Given the description of an element on the screen output the (x, y) to click on. 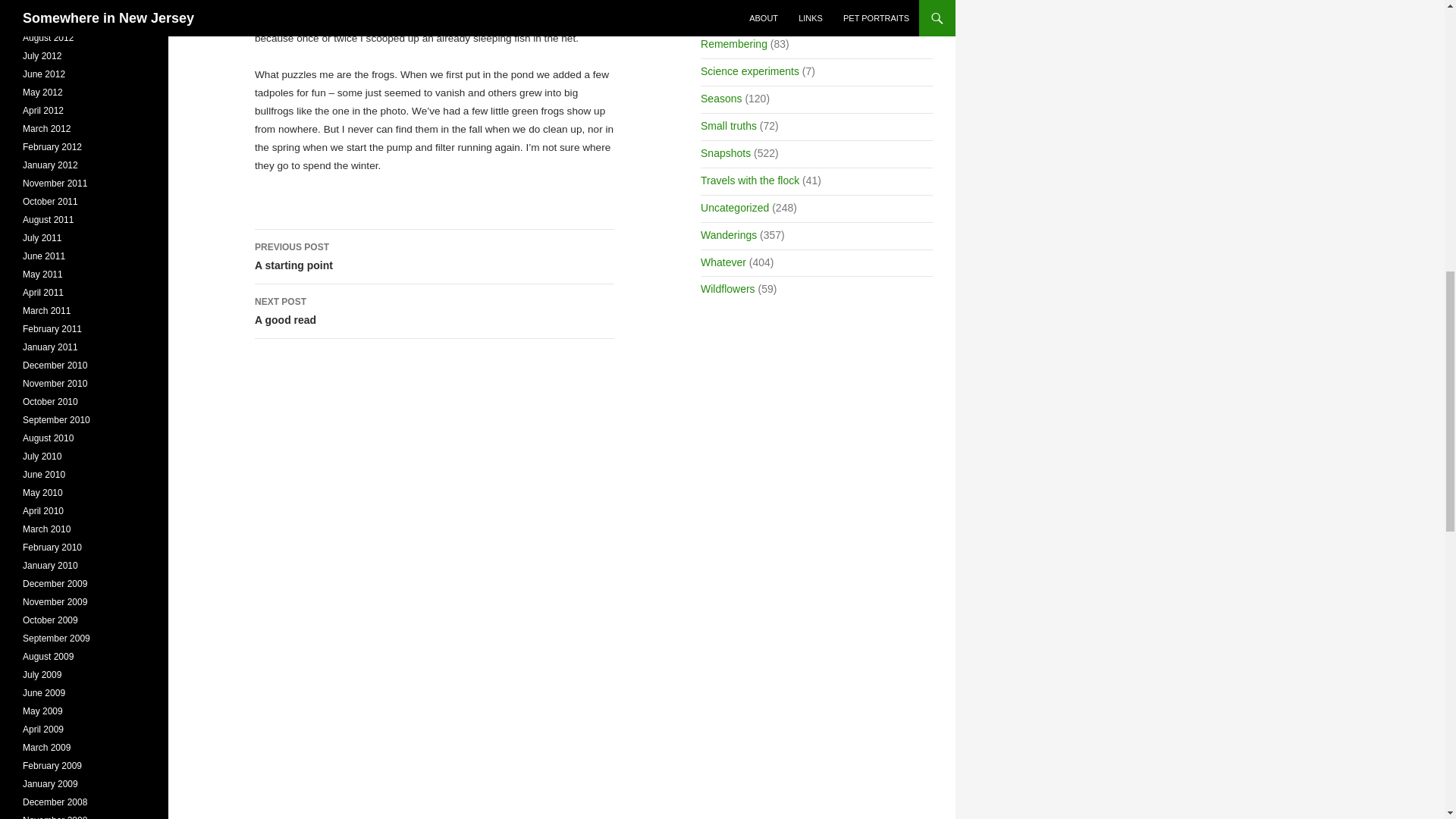
Remembering (733, 43)
Science experiments (749, 70)
Seasons (434, 311)
PSA (434, 257)
